Given the description of an element on the screen output the (x, y) to click on. 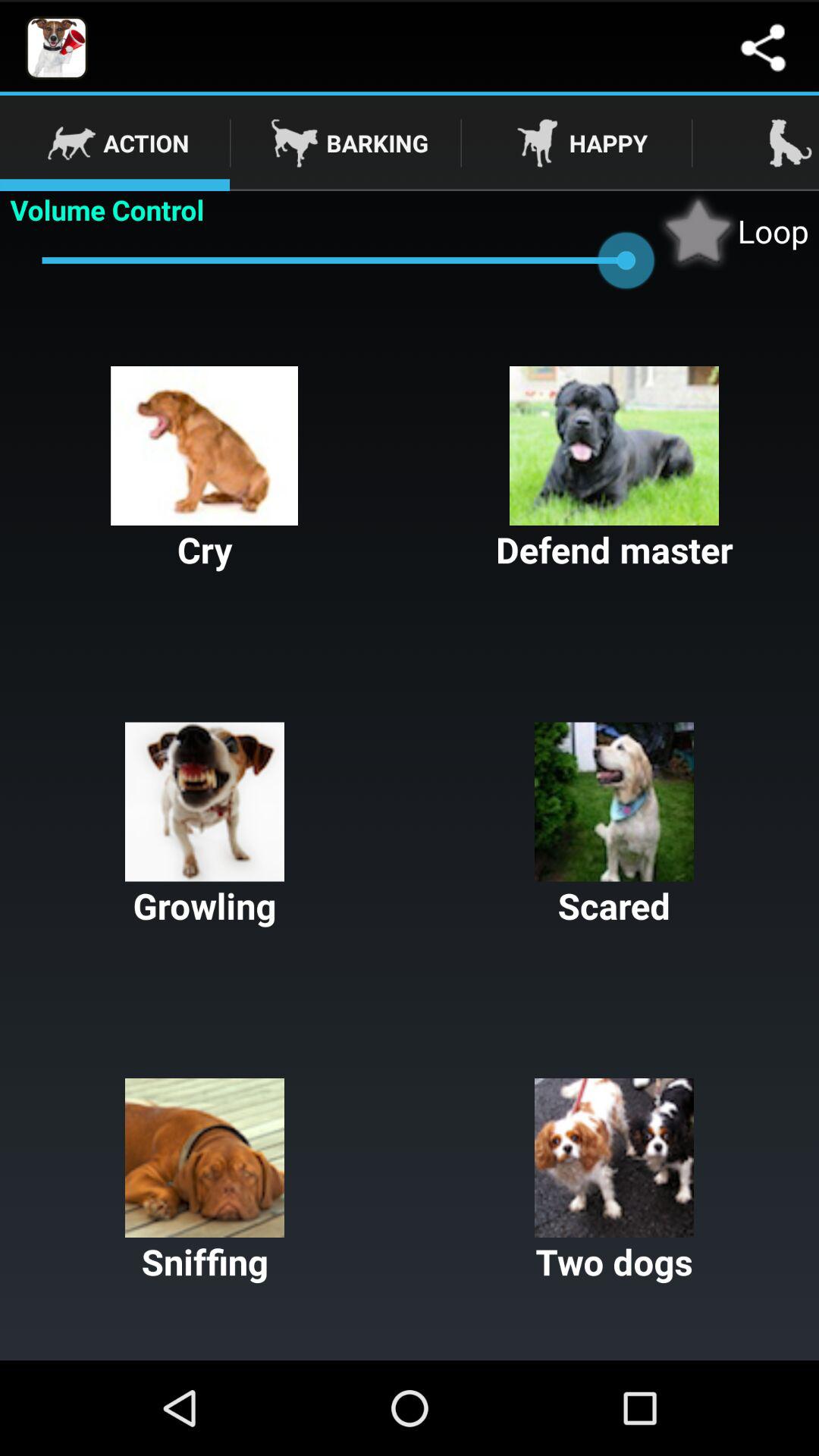
scroll to the cry button (204, 469)
